Given the description of an element on the screen output the (x, y) to click on. 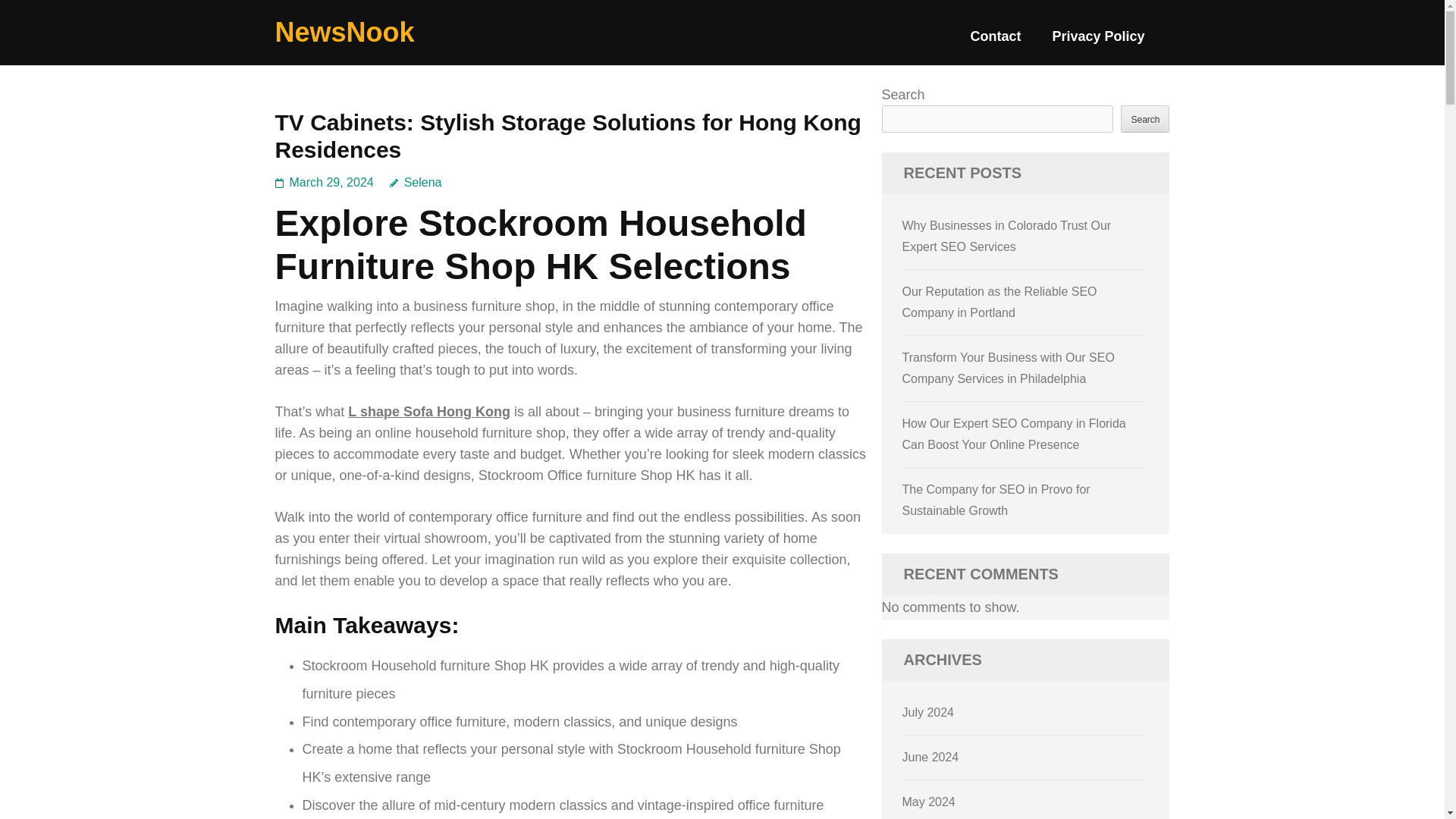
May 2024 (928, 801)
The Company for SEO in Provo for Sustainable Growth (996, 499)
L shape Sofa Hong Kong (429, 411)
Contact (994, 42)
NewsNook (344, 31)
Selena (416, 182)
Why Businesses in Colorado Trust Our Expert SEO Services (1007, 236)
July 2024 (928, 712)
Search (1145, 118)
Our Reputation as the Reliable SEO Company in Portland (999, 302)
Privacy Policy (1097, 42)
March 29, 2024 (331, 182)
June 2024 (930, 757)
